Given the description of an element on the screen output the (x, y) to click on. 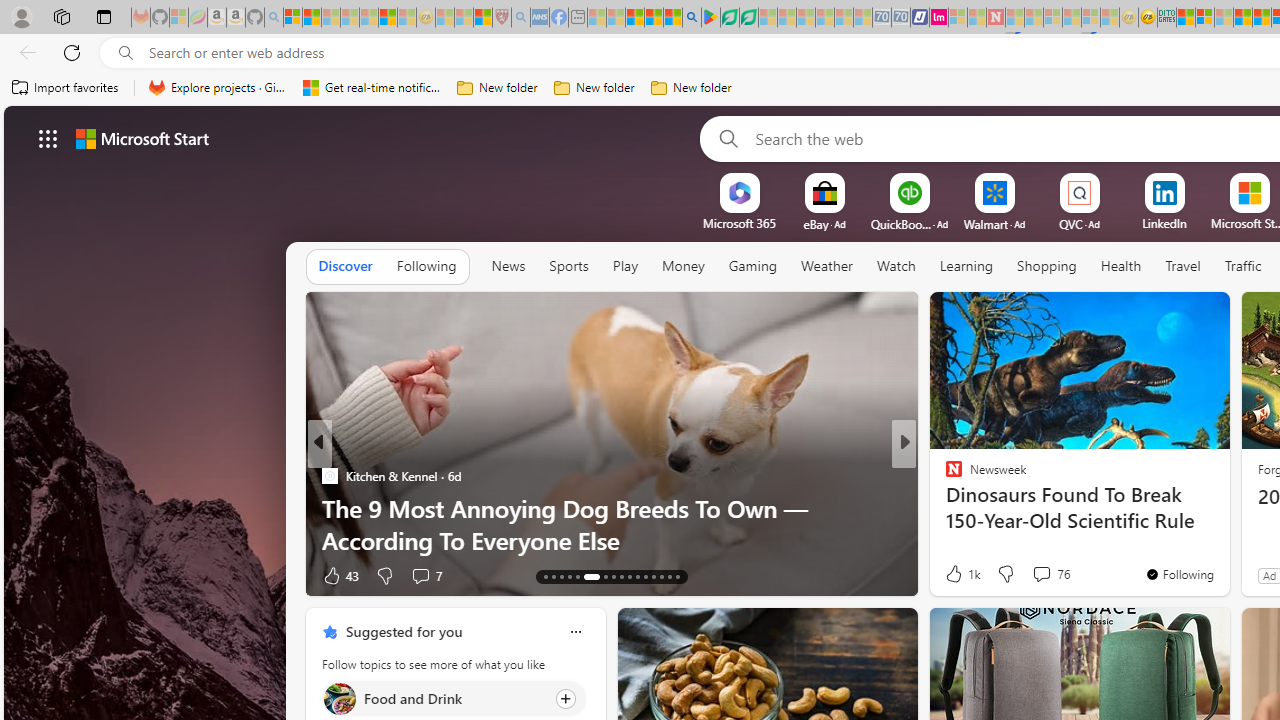
AutomationID: tab-22 (628, 576)
View comments 9 Comment (1041, 574)
AutomationID: tab-19 (599, 576)
803 Like (959, 574)
